Given the description of an element on the screen output the (x, y) to click on. 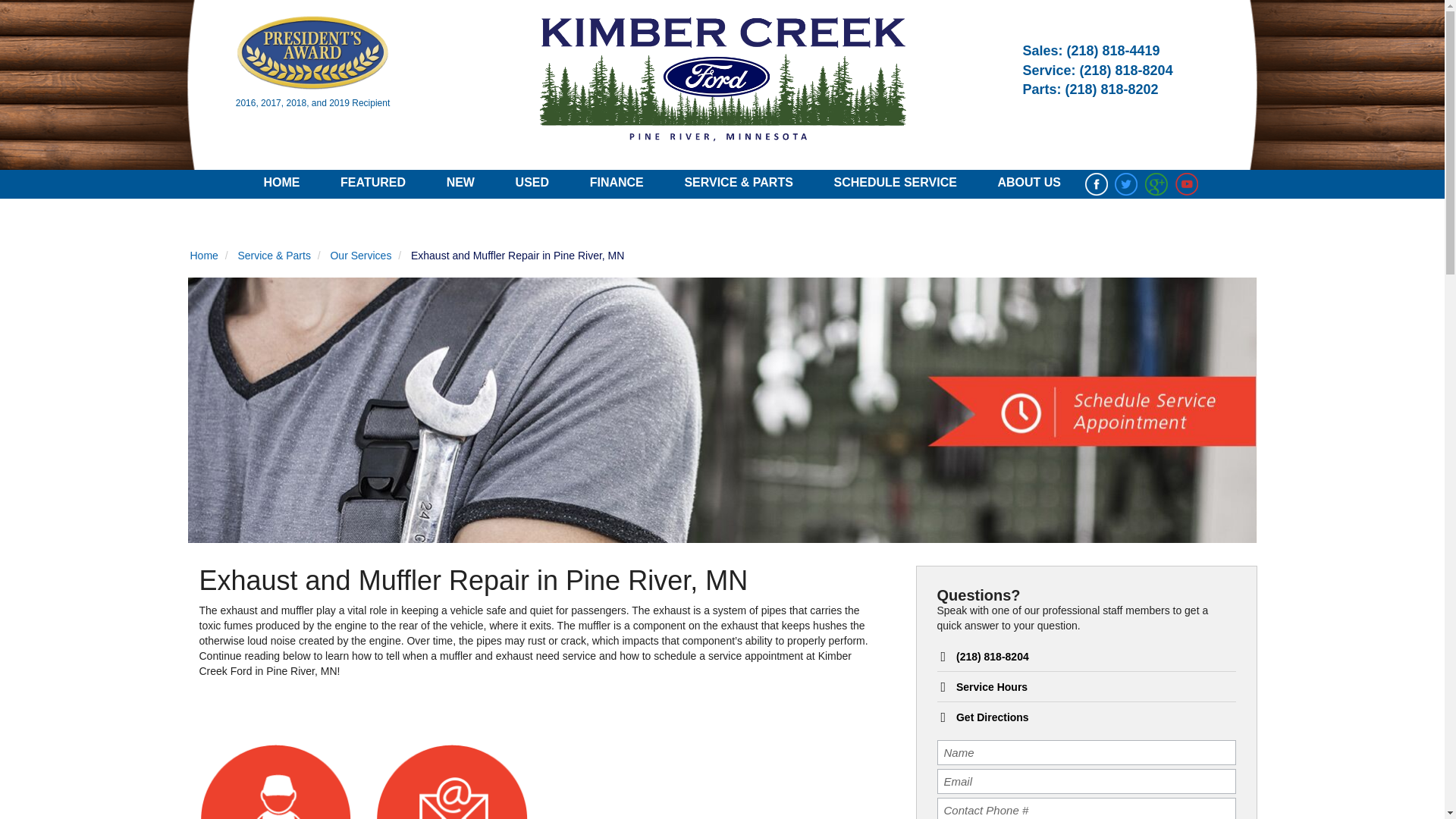
FEATURED (373, 184)
NEW (460, 184)
New (460, 182)
Featured (373, 182)
Home (281, 182)
HOME (281, 184)
